Given the description of an element on the screen output the (x, y) to click on. 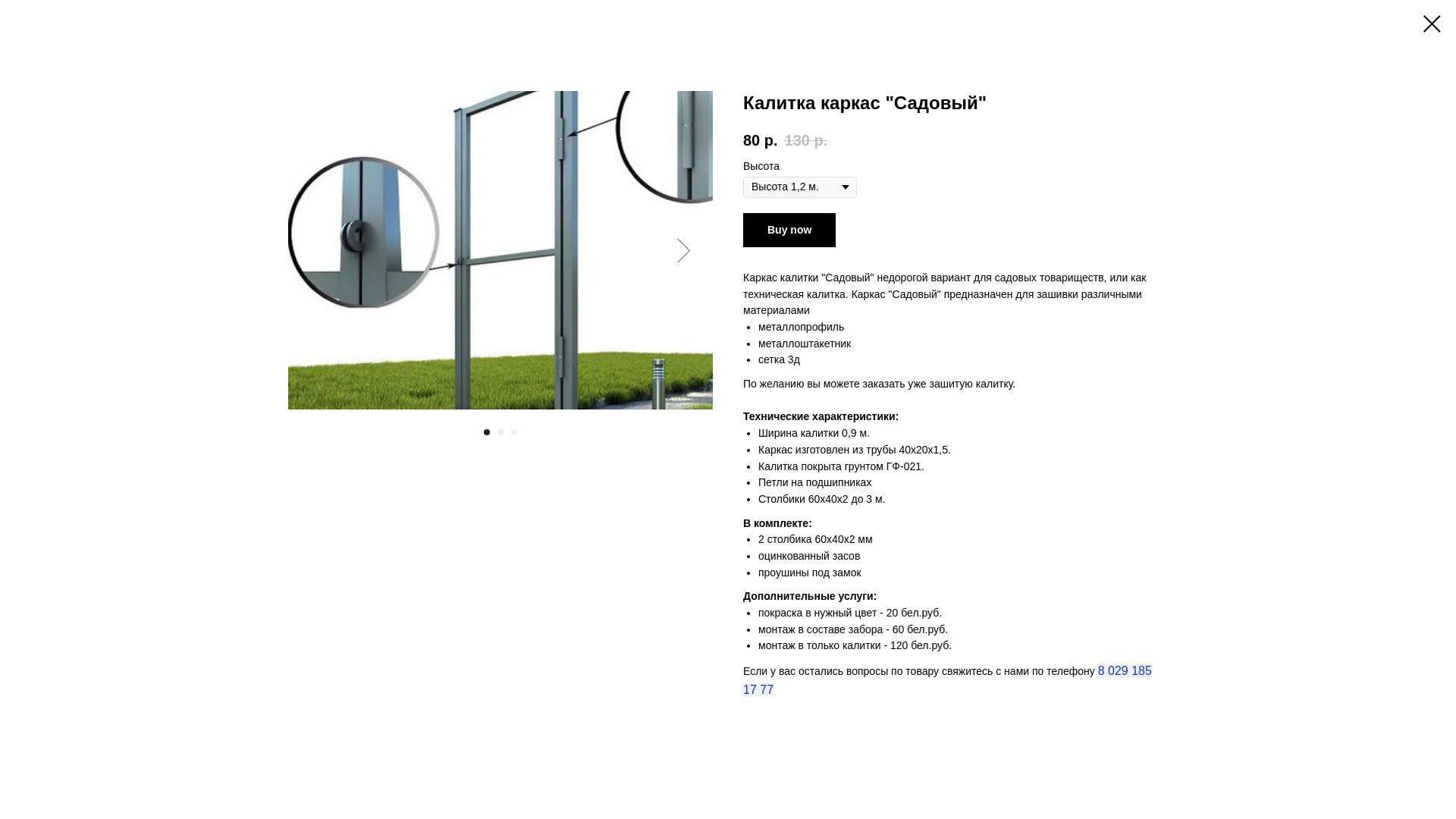
8 029 185 17 77 Element type: text (947, 680)
Buy now Element type: text (789, 230)
